Given the description of an element on the screen output the (x, y) to click on. 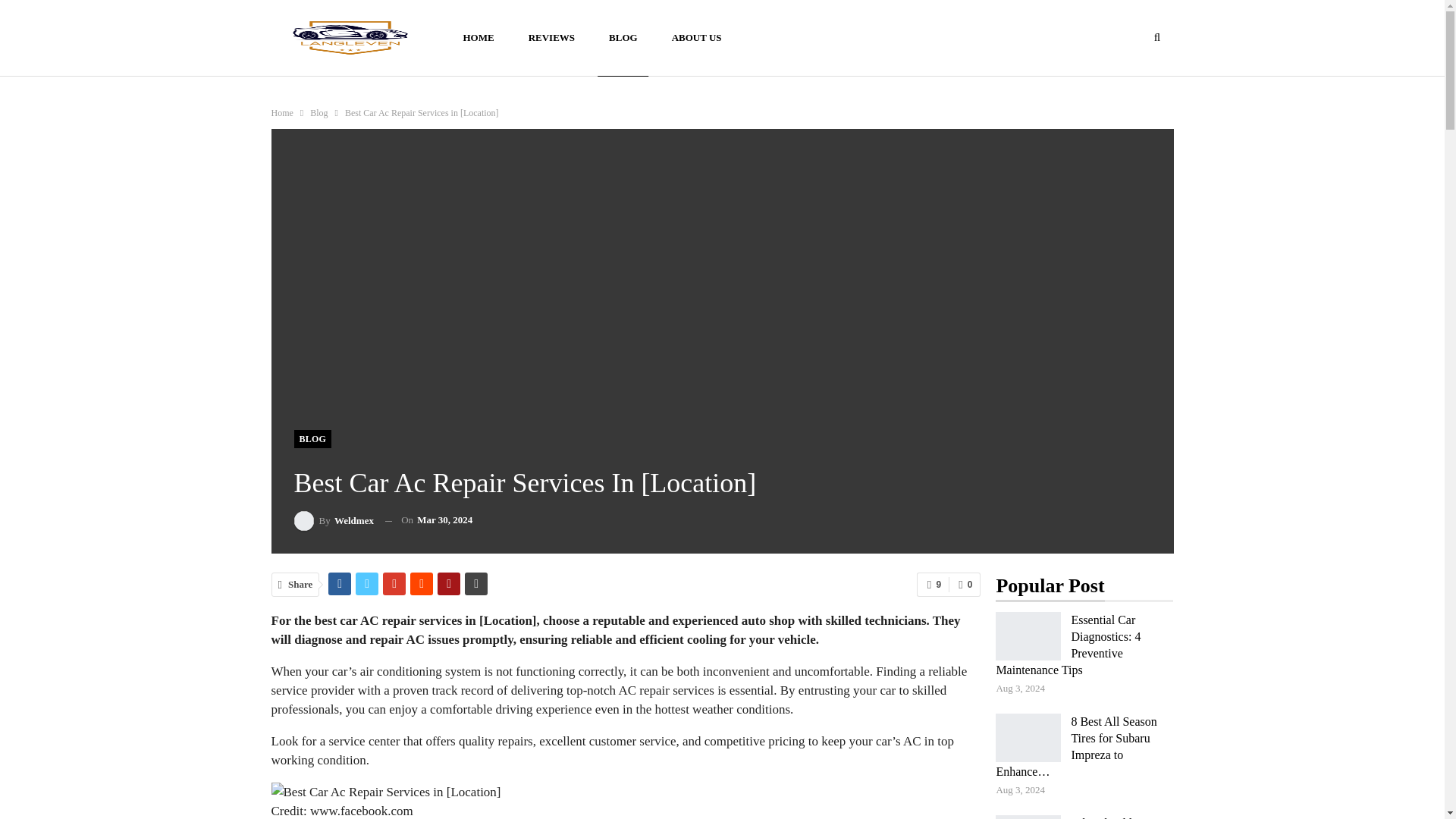
Blog (318, 112)
Browse Author Articles (334, 520)
Home (282, 112)
BLOG (312, 438)
REVIEWS (551, 38)
By Weldmex (334, 520)
0 (964, 584)
ABOUT US (697, 38)
